Given the description of an element on the screen output the (x, y) to click on. 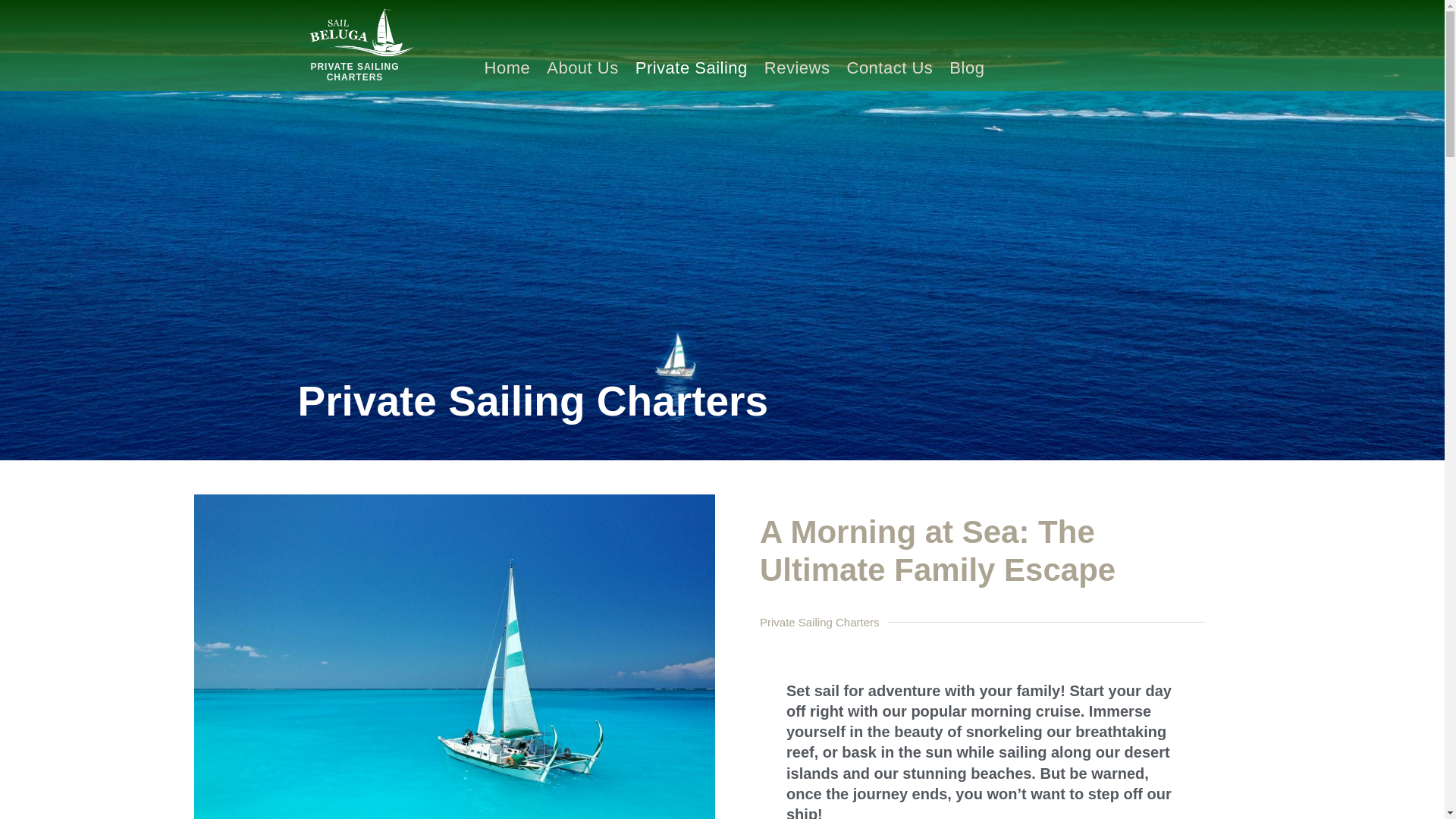
Private Sailing (691, 68)
Contact Us (890, 68)
Home (507, 68)
Reviews (796, 68)
About Us (582, 68)
Blog (966, 68)
